Given the description of an element on the screen output the (x, y) to click on. 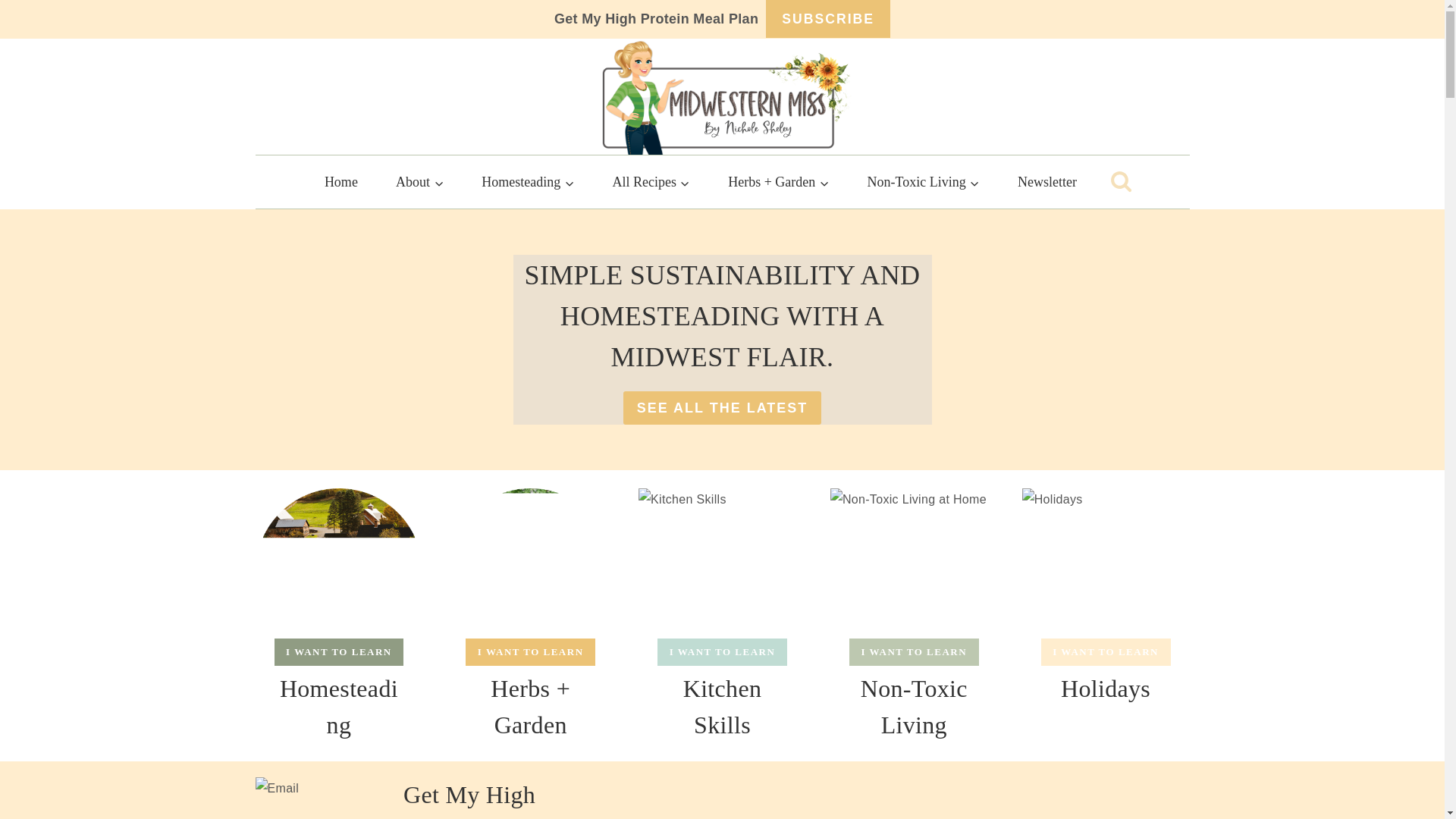
Newsletter (1047, 181)
SEE ALL THE LATEST (722, 407)
Homesteading (527, 181)
Non-Toxic Living (922, 181)
About (420, 181)
All Recipes (650, 181)
SUBSCRIBE (827, 18)
Home (341, 181)
